Given the description of an element on the screen output the (x, y) to click on. 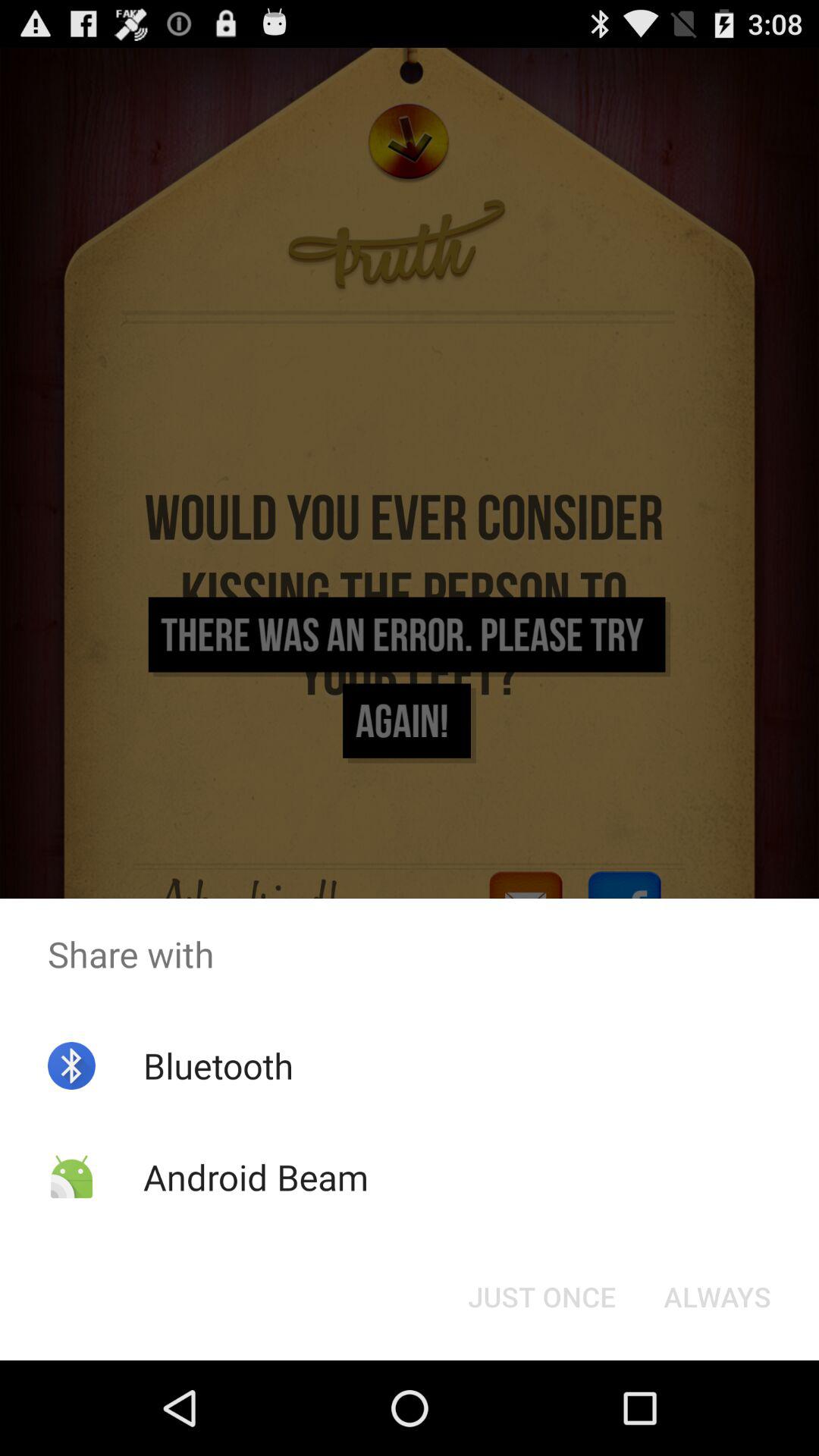
jump to android beam icon (255, 1176)
